Given the description of an element on the screen output the (x, y) to click on. 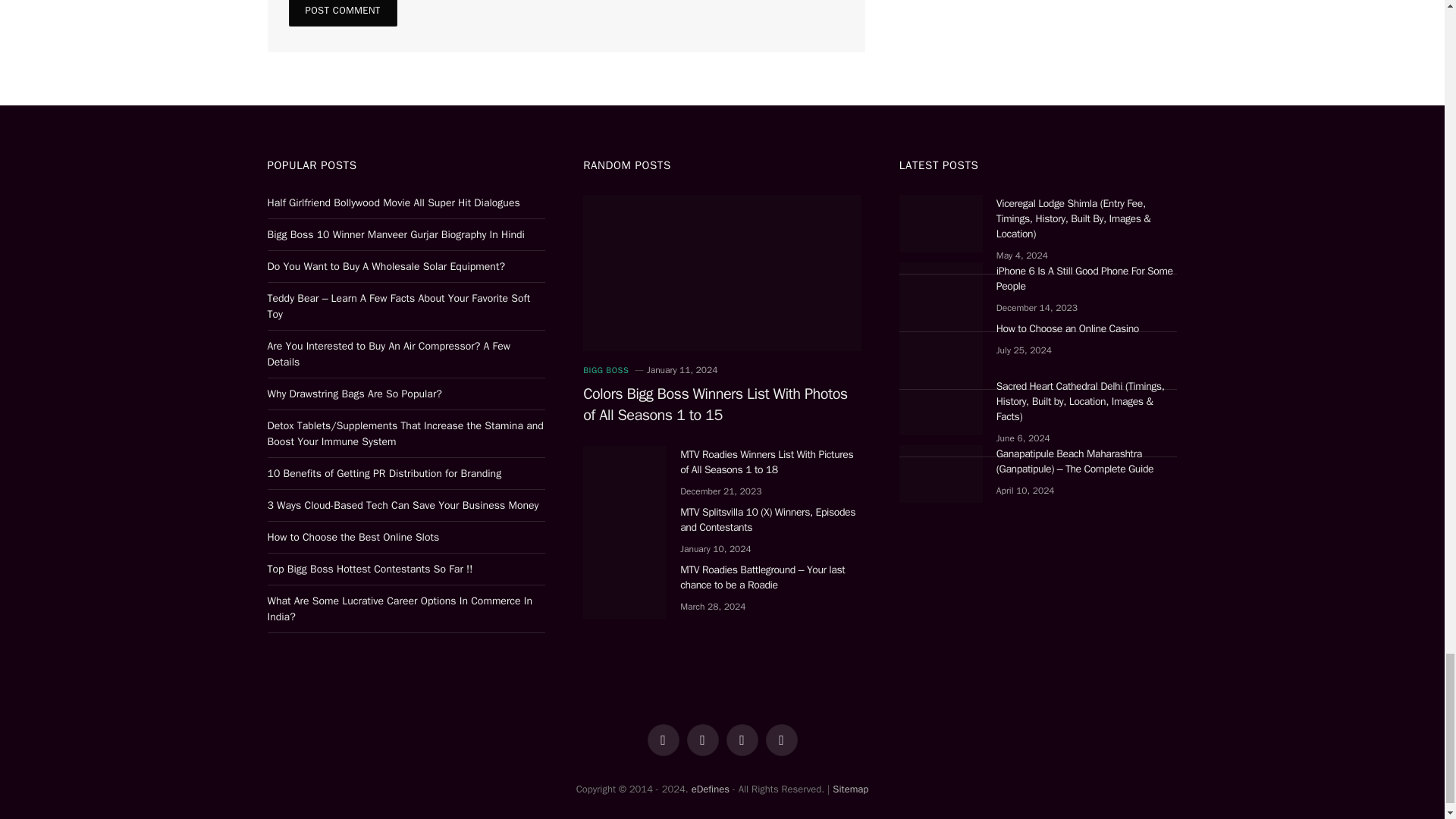
Post Comment (342, 13)
